Given the description of an element on the screen output the (x, y) to click on. 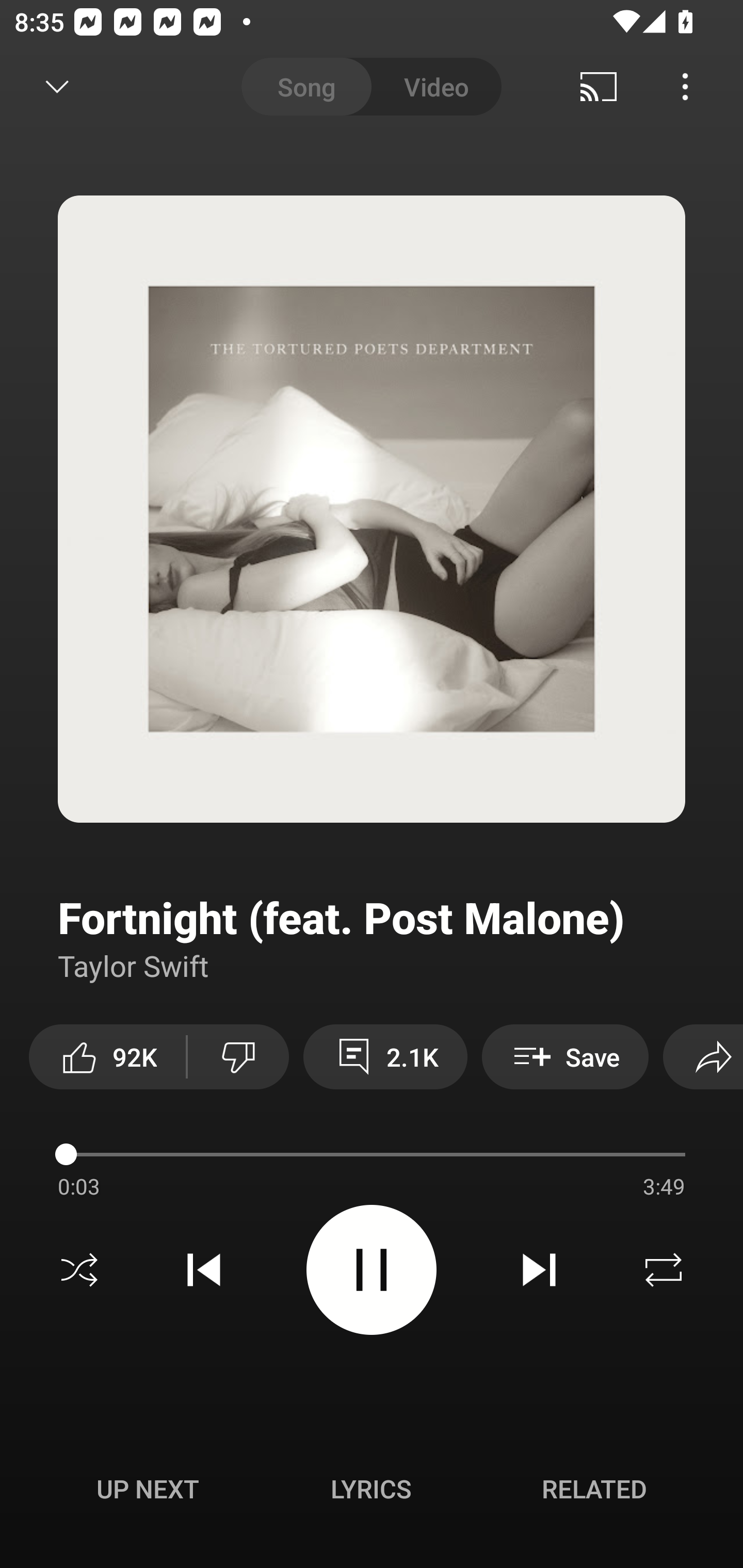
Minimize (57, 86)
Cast. Disconnected (598, 86)
Menu (684, 86)
92K like this video along with 92,487 other people (106, 1056)
Dislike (238, 1056)
2.1K View 2,127 comments (385, 1056)
Save Save to playlist (565, 1056)
Share (702, 1056)
Action menu (371, 1157)
Pause video (371, 1269)
Shuffle off (79, 1269)
Previous track (203, 1269)
Next track (538, 1269)
Repeat off (663, 1269)
Up next UP NEXT Lyrics LYRICS Related RELATED (371, 1491)
Lyrics LYRICS (370, 1488)
Related RELATED (594, 1488)
